Given the description of an element on the screen output the (x, y) to click on. 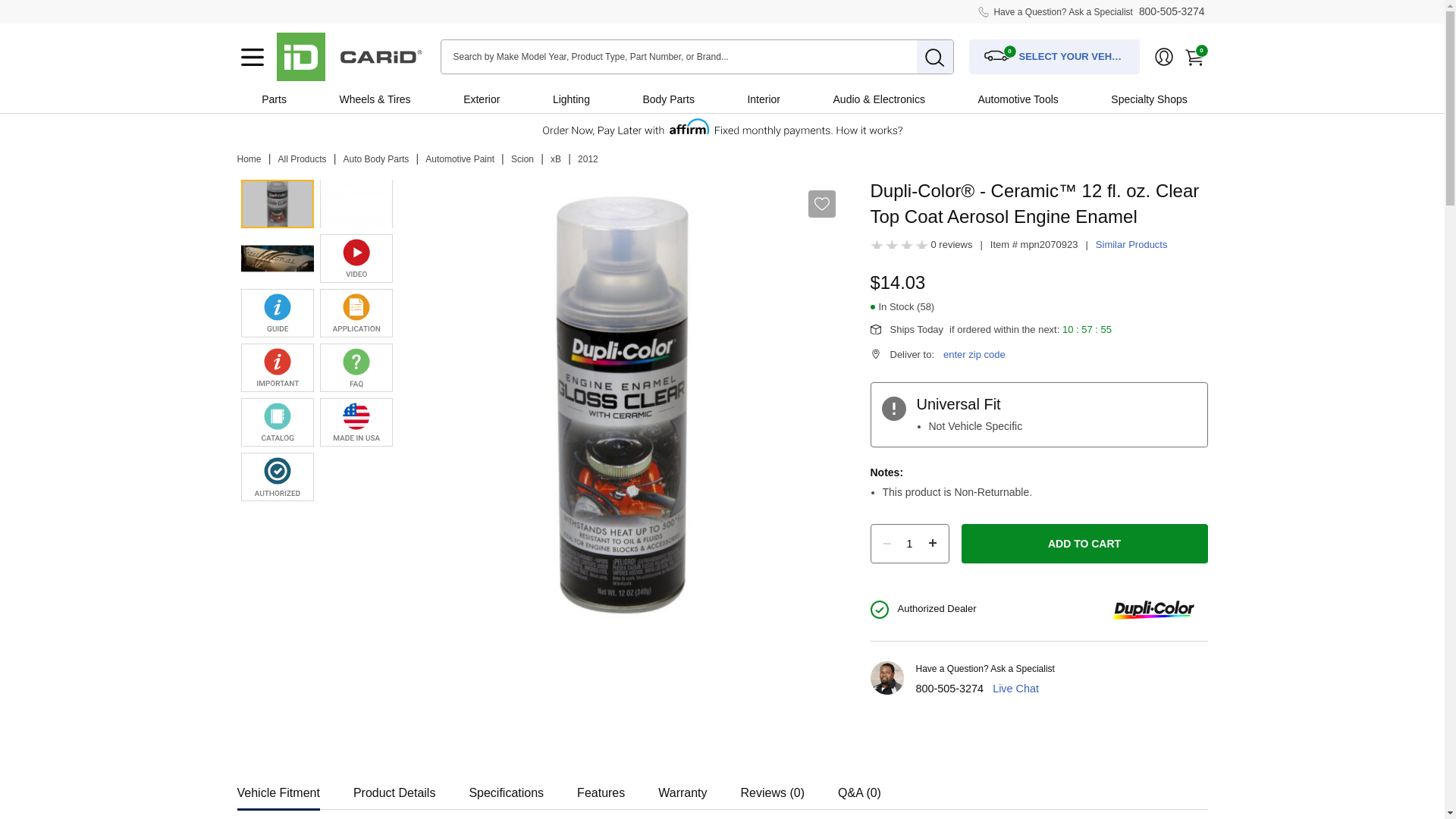
Specifications (505, 787)
Parts (273, 99)
Product Details (394, 787)
ADD TO CART (1084, 543)
800-505-3274 (1171, 11)
Interior (763, 99)
Exterior (480, 99)
Warranty (682, 787)
Tires (398, 99)
Features (600, 787)
